Given the description of an element on the screen output the (x, y) to click on. 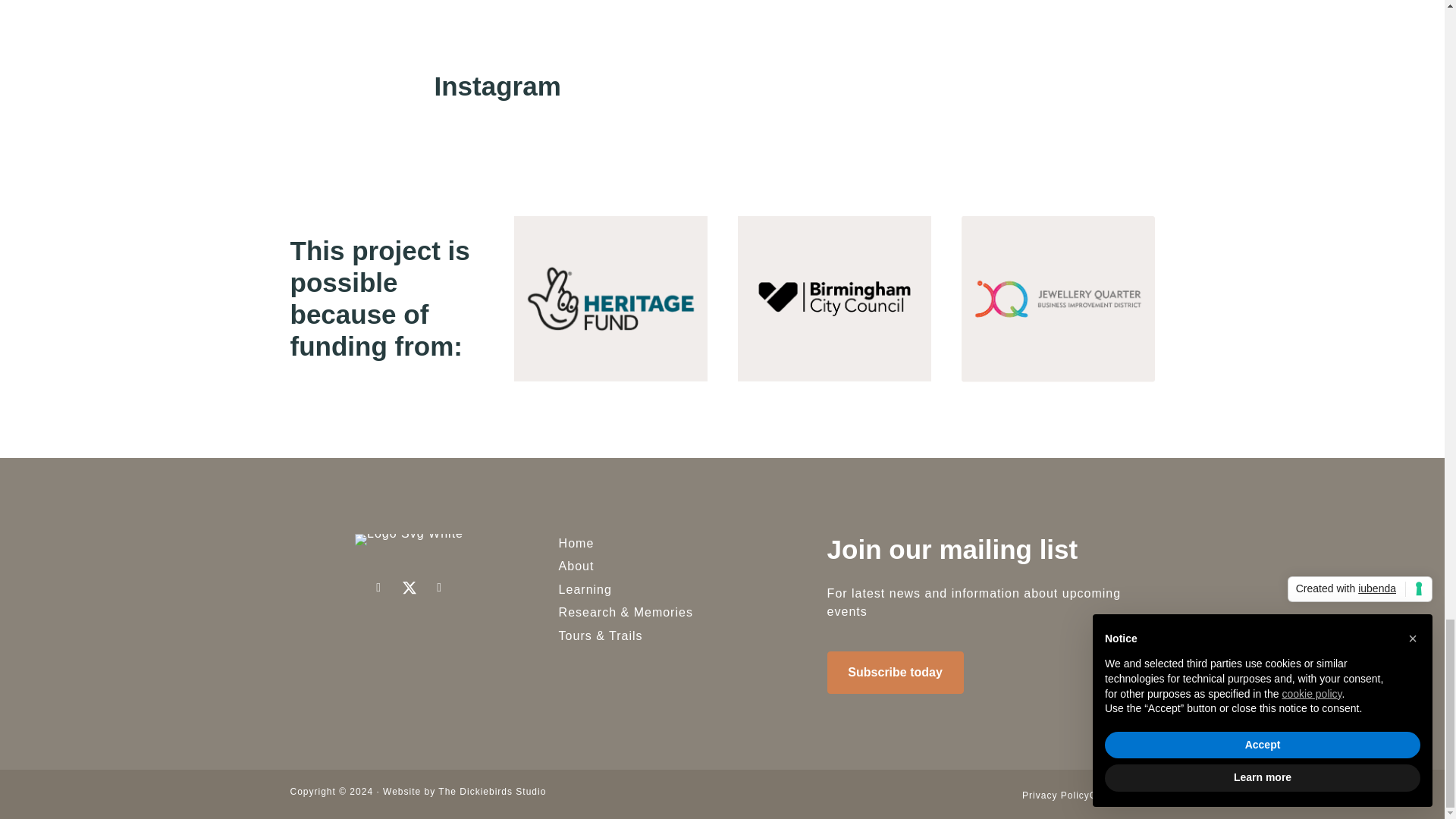
Herirage (610, 299)
Jq (1057, 299)
Bm (833, 299)
Logo Svg White (409, 539)
